Given the description of an element on the screen output the (x, y) to click on. 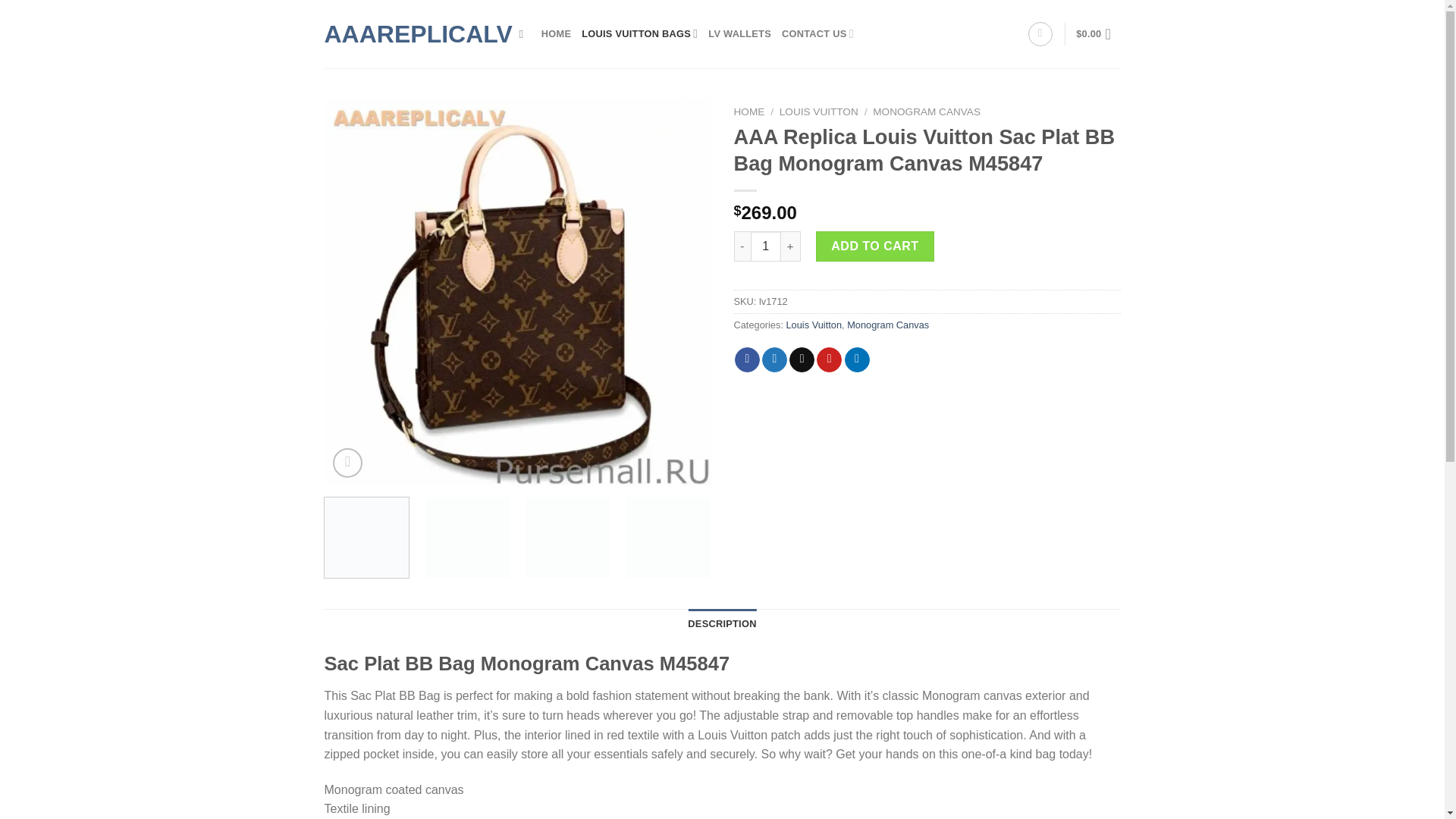
CONTACT US (817, 33)
AAAREPLICALV (410, 33)
aaareplicalv - AAA Replica LV Handbags Supplier (410, 33)
Cart (1097, 33)
Zoom (347, 462)
LV WALLETS (739, 33)
HOME (555, 33)
LOUIS VUITTON BAGS (638, 33)
1 (765, 245)
